Given the description of an element on the screen output the (x, y) to click on. 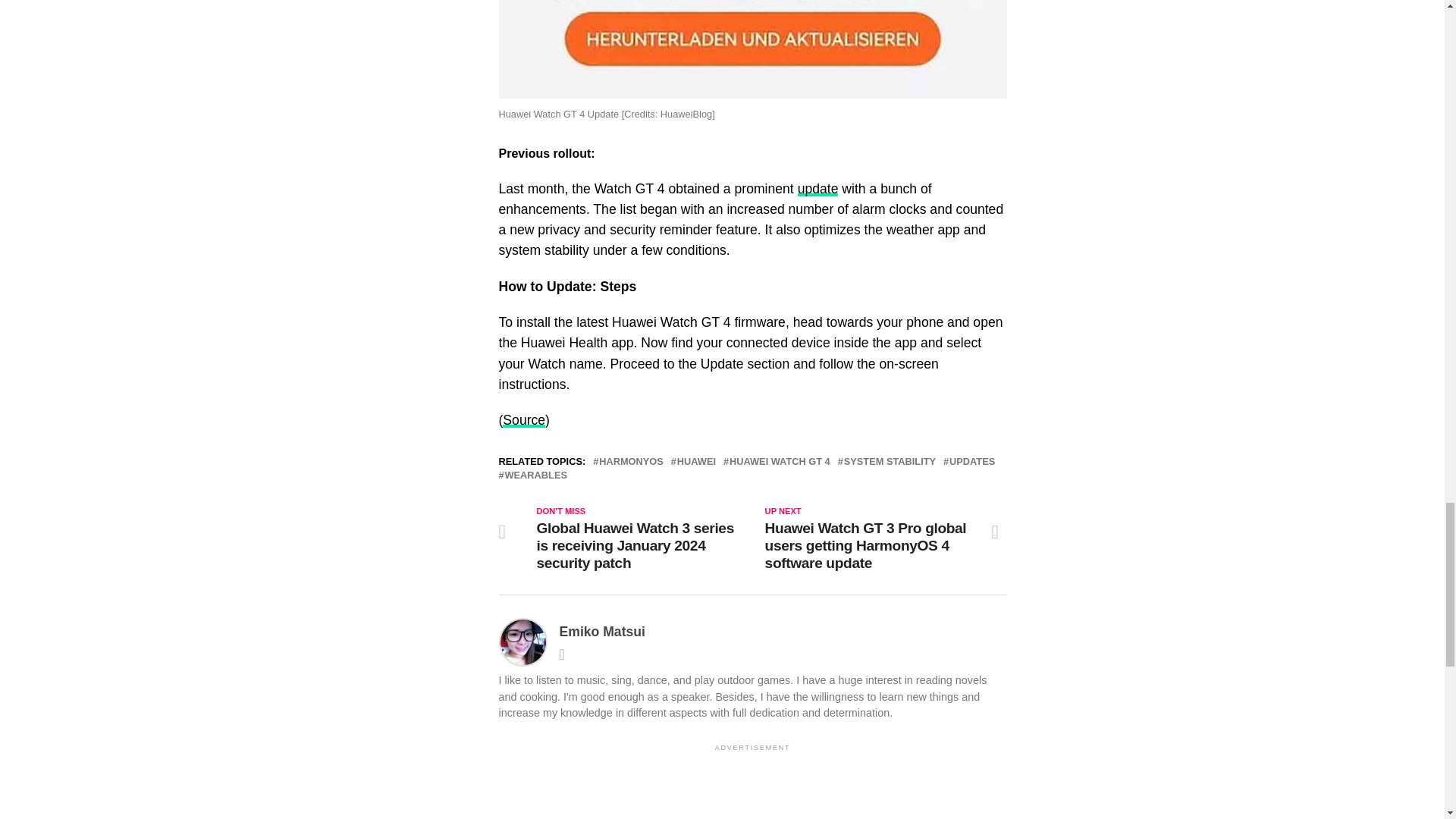
Posts by Emiko Matsui (602, 631)
